Given the description of an element on the screen output the (x, y) to click on. 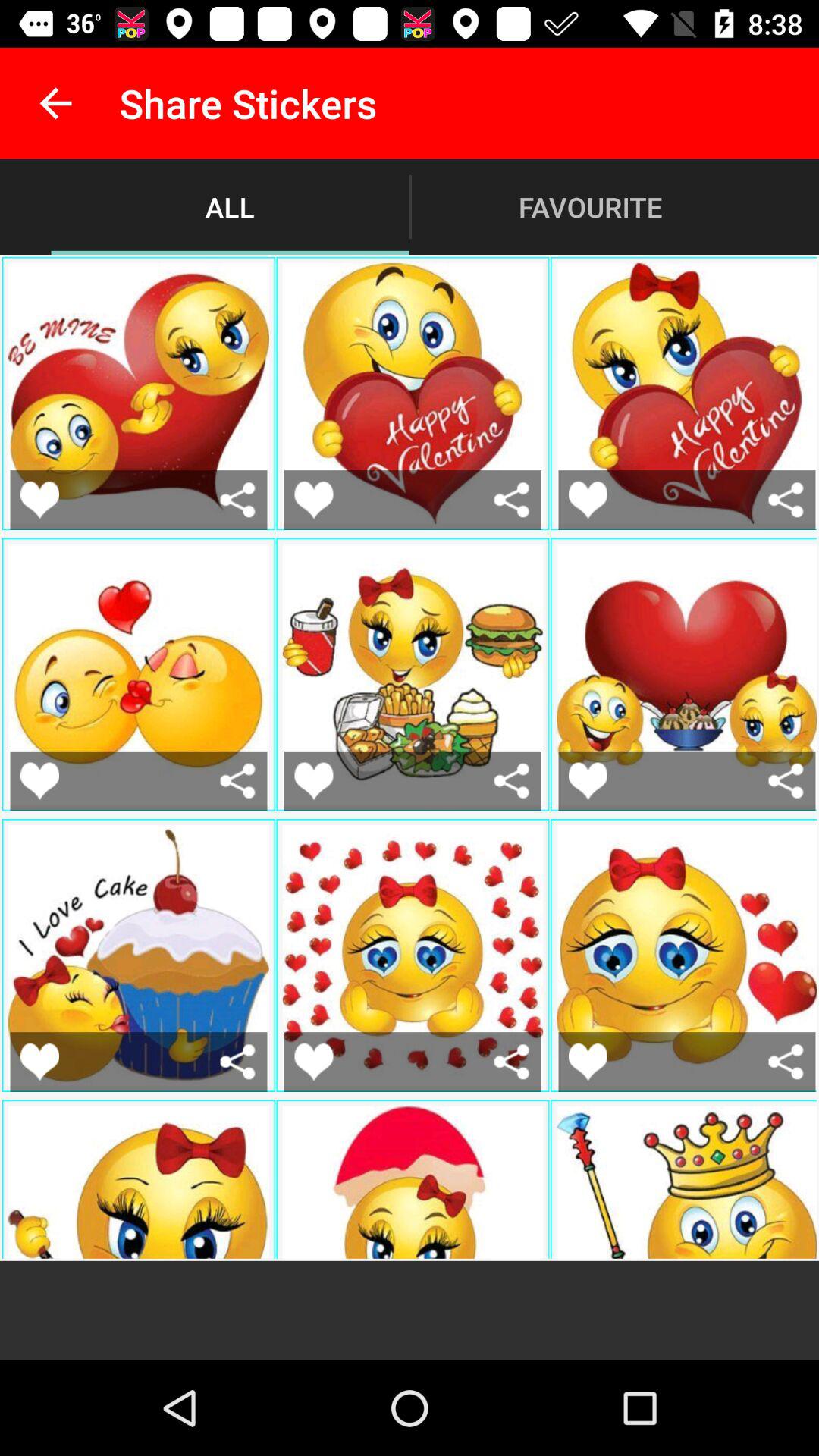
share option (511, 780)
